Given the description of an element on the screen output the (x, y) to click on. 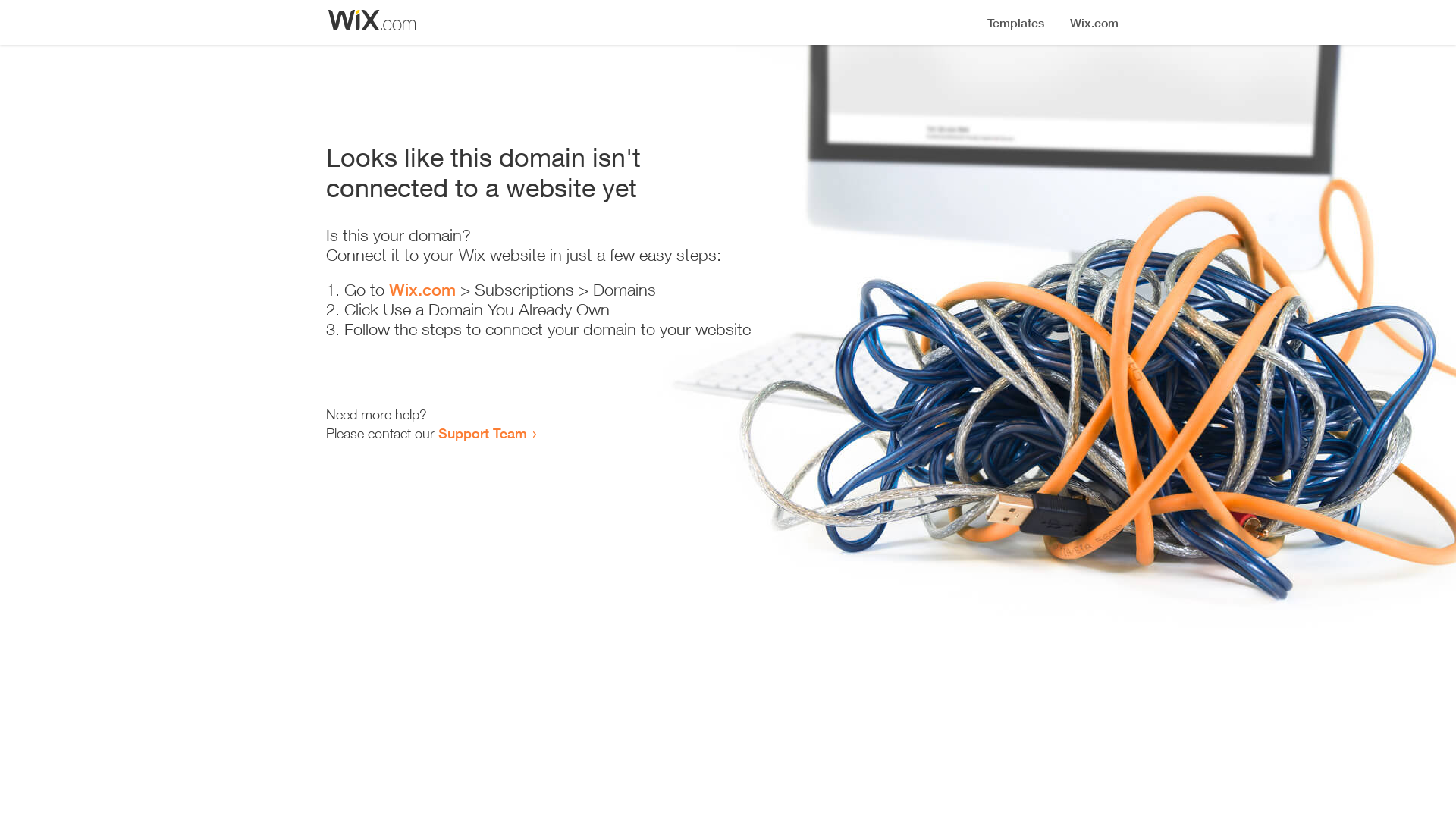
Wix.com Element type: text (422, 289)
Support Team Element type: text (482, 432)
